Given the description of an element on the screen output the (x, y) to click on. 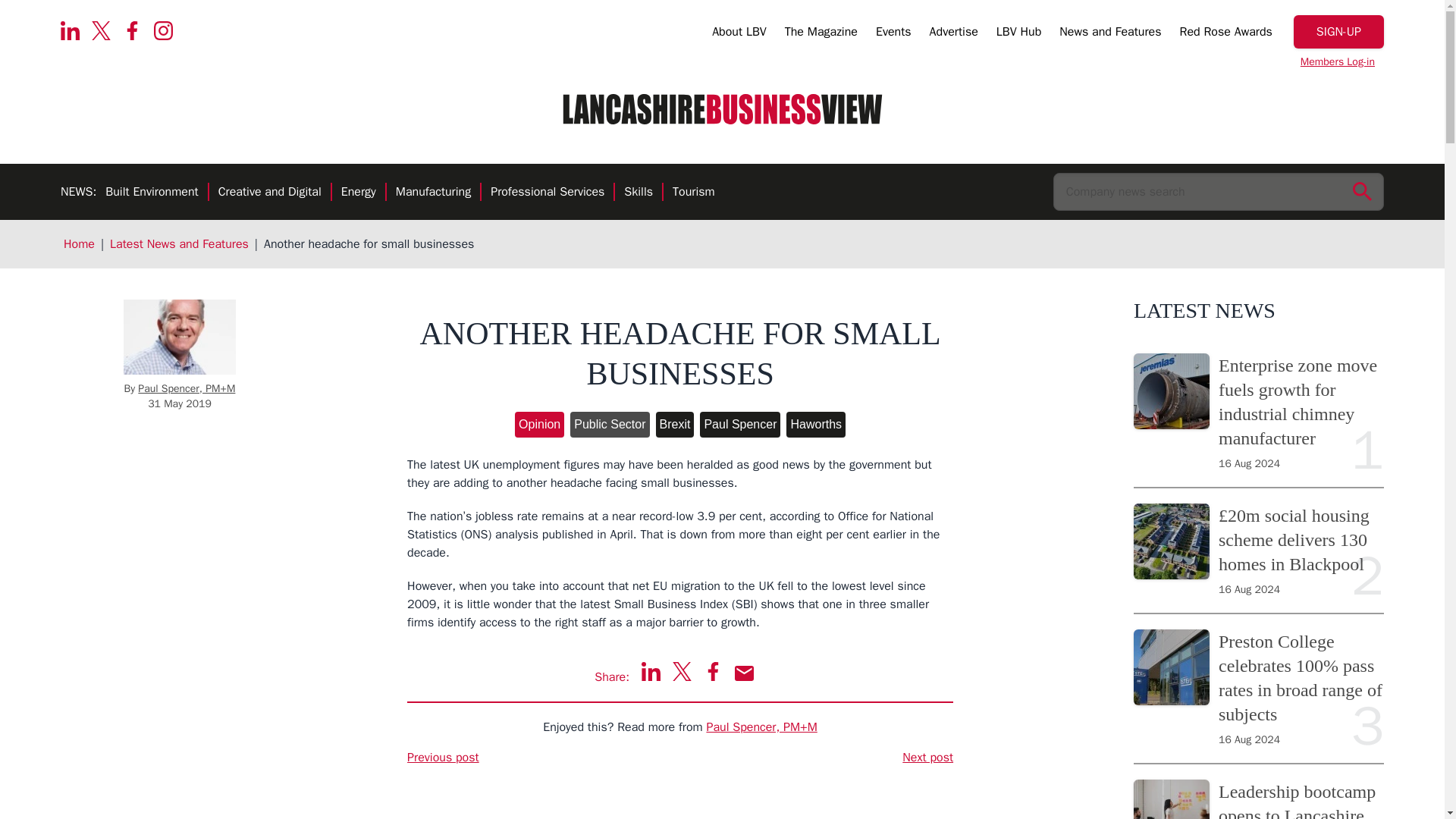
Share via LinkedIn (651, 670)
Skills (638, 192)
Members Log-in (1337, 61)
News and Features (1109, 34)
Built Environment (151, 192)
Red Rose Awards (1225, 34)
Share via Twitter (681, 670)
Tourism (693, 192)
SIGN-UP (1339, 31)
Advertise (954, 34)
